Given the description of an element on the screen output the (x, y) to click on. 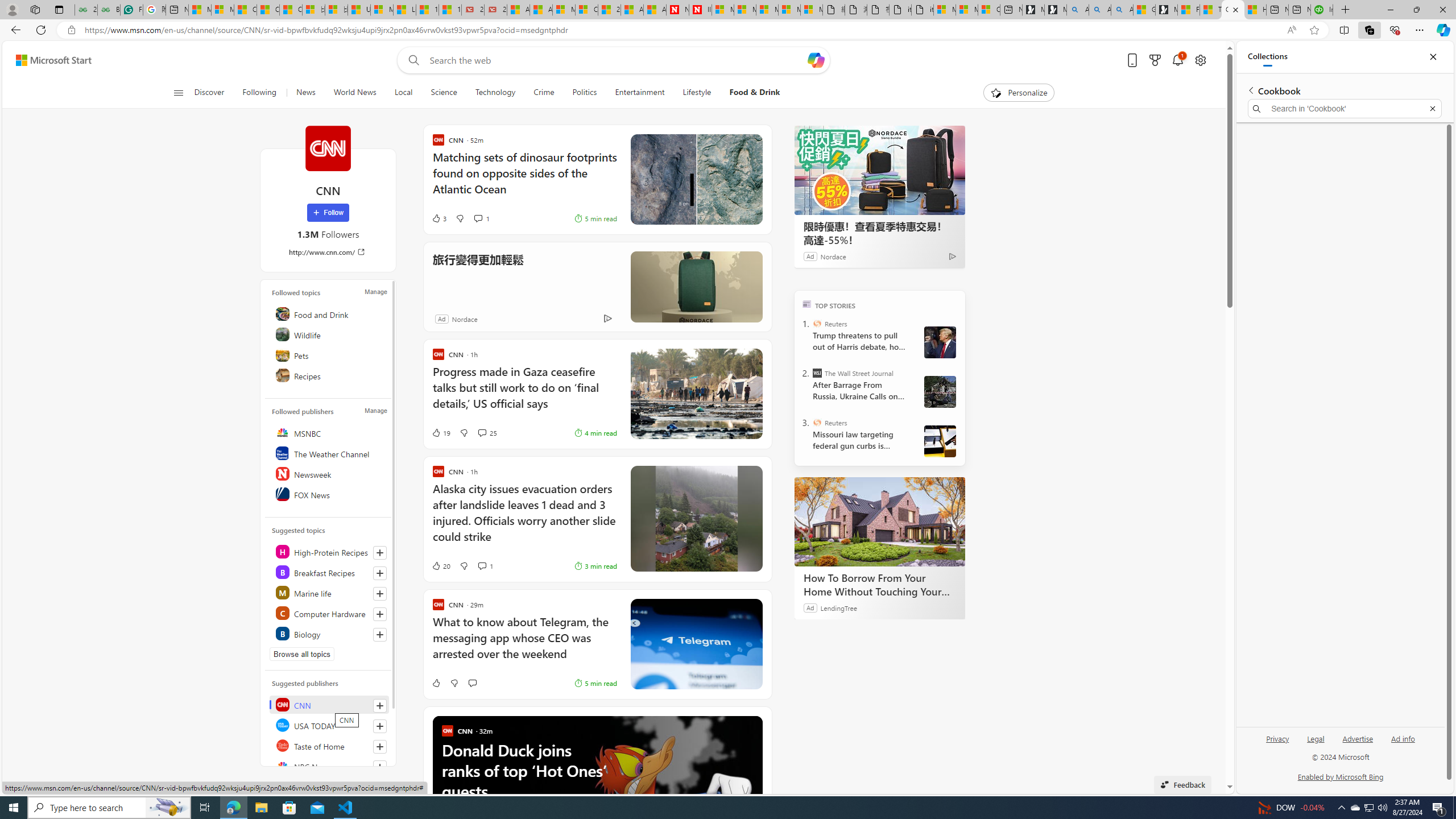
Web search (411, 60)
19 Like (440, 432)
Nordace (464, 318)
Ad Choice (606, 318)
How to Use a TV as a Computer Monitor (1255, 9)
TOP (806, 302)
Follow this topic (379, 634)
